Given the description of an element on the screen output the (x, y) to click on. 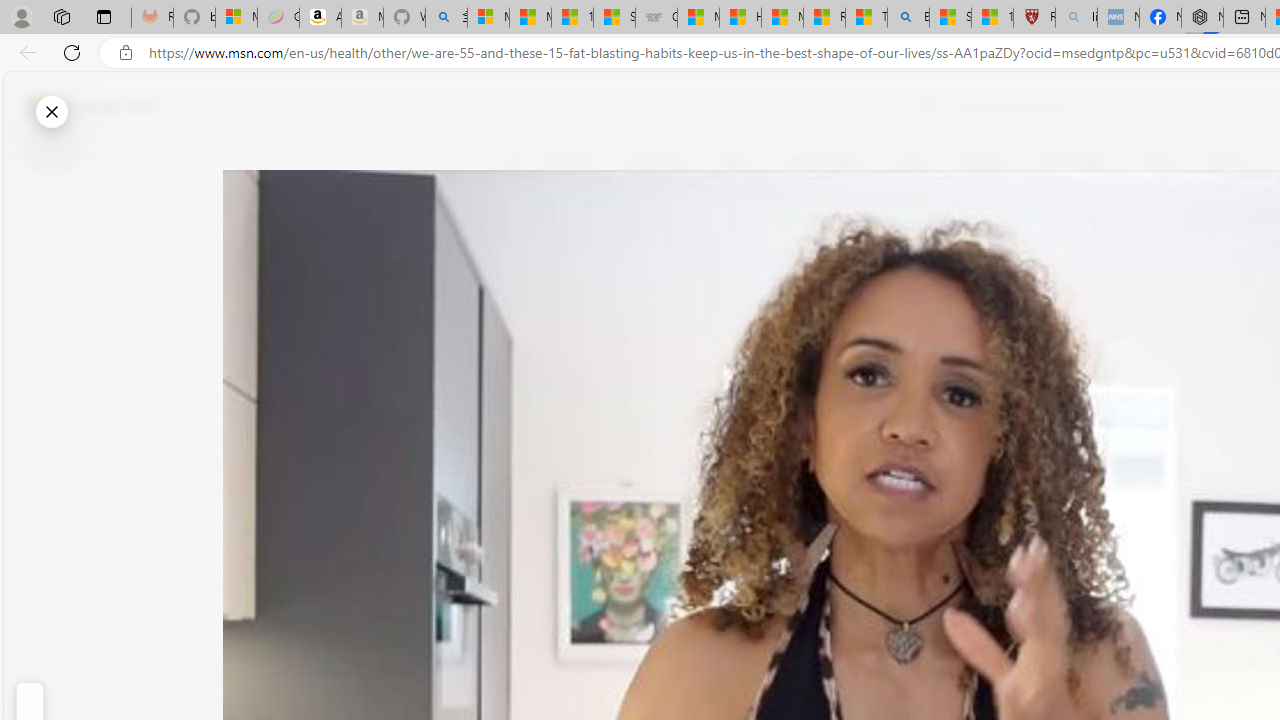
Class: button-glyph (513, 162)
Crime (1156, 162)
Politics (1227, 162)
Follow (909, 258)
Crime (1156, 162)
World News (824, 162)
Combat Siege (656, 17)
Science (980, 162)
World News (824, 162)
